Given the description of an element on the screen output the (x, y) to click on. 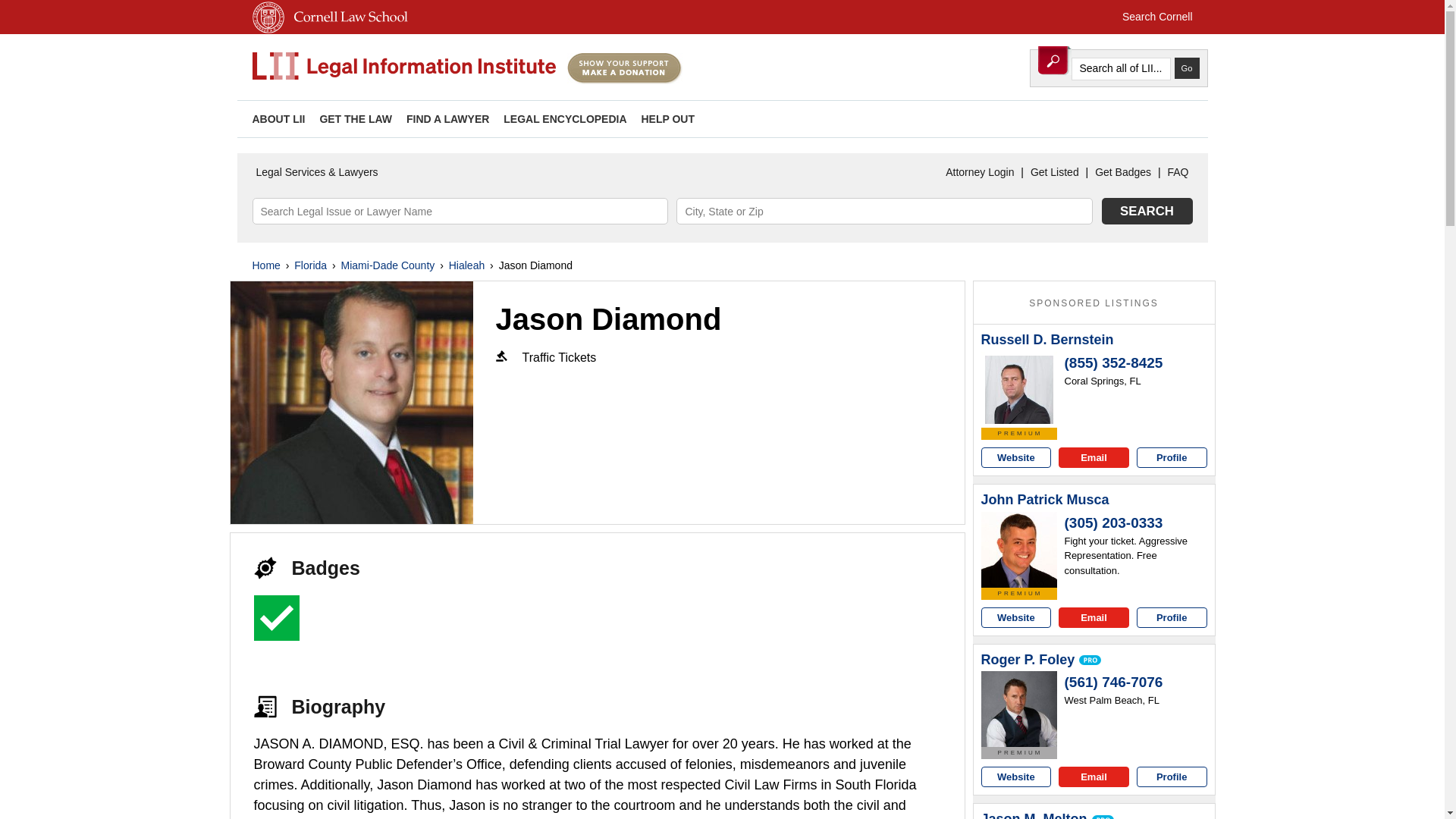
Jason Diamond (351, 402)
Russell D. Bernstein (1019, 389)
City, State or Zip (885, 211)
Jason M. Melton (1034, 815)
Cornell - LII Attorney Directory (402, 67)
Hialeah (466, 264)
Get Badges (1122, 172)
Miami-Dade County (387, 264)
Cornell Law School (346, 29)
Website (1016, 457)
